Given the description of an element on the screen output the (x, y) to click on. 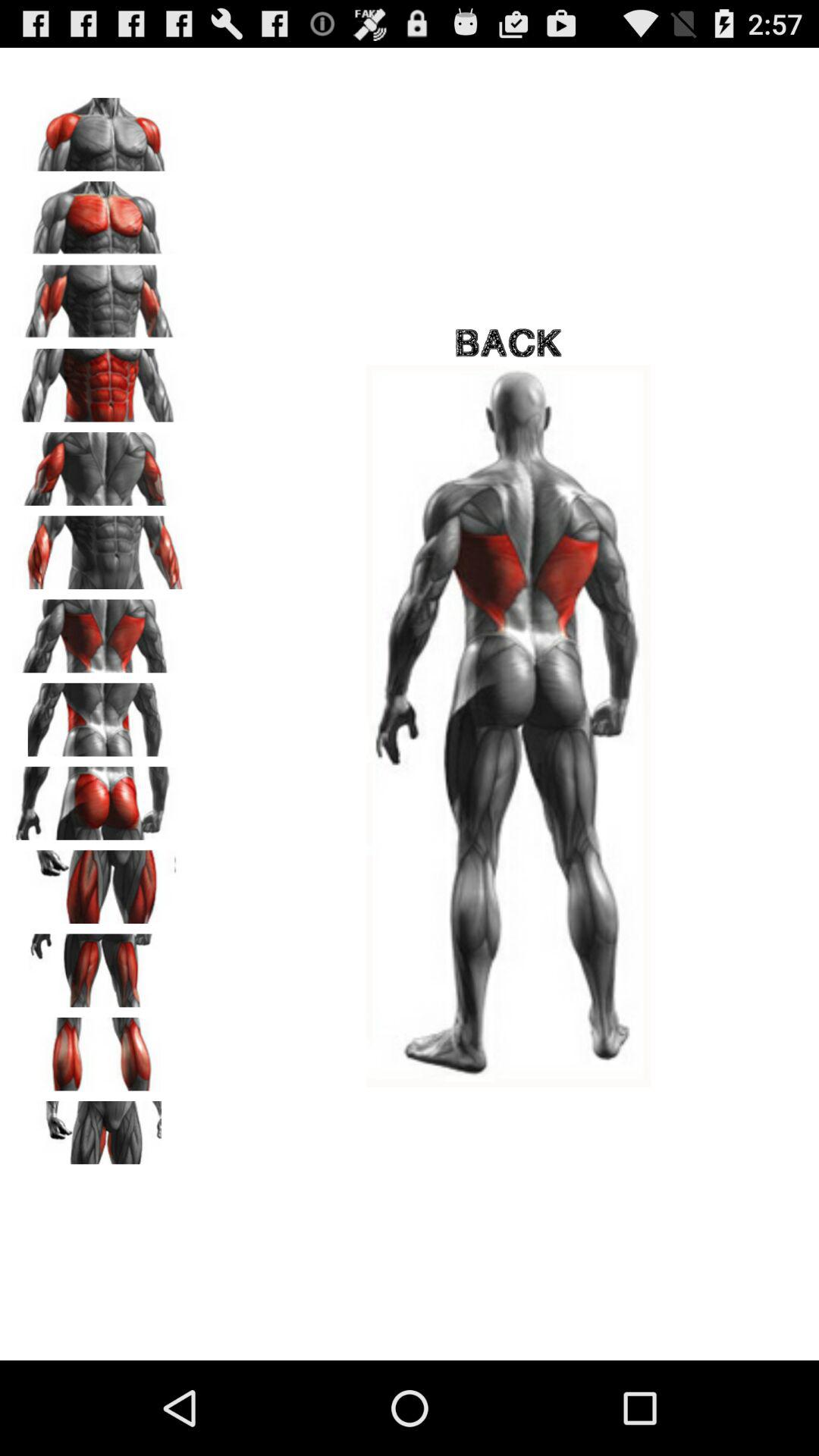
view the current selection of the back (99, 714)
